Given the description of an element on the screen output the (x, y) to click on. 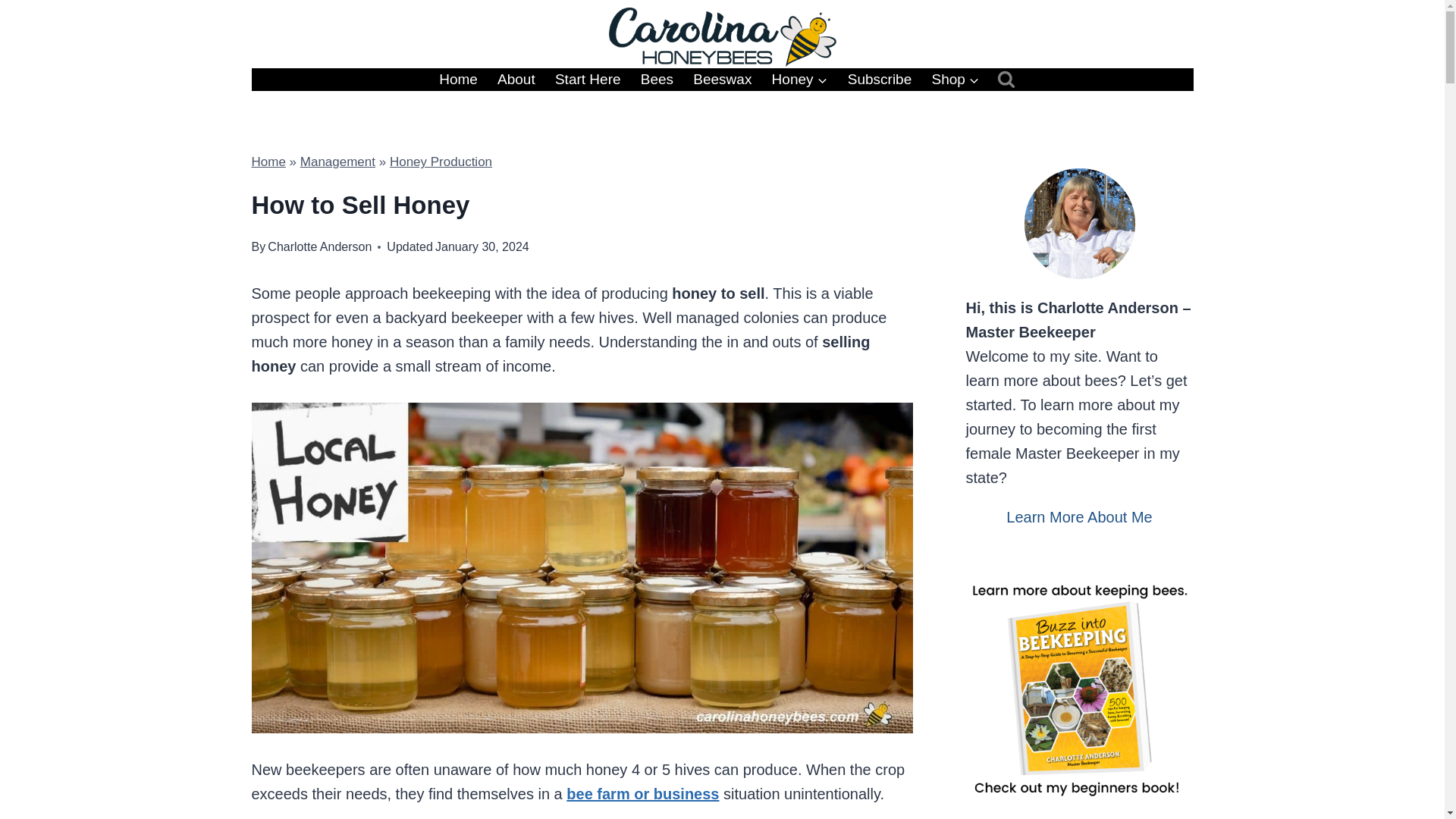
Subscribe (879, 78)
Honey (799, 78)
Shop (955, 78)
Management (337, 161)
Home (268, 161)
Honey Production (441, 161)
Charlotte Anderson (319, 246)
About (515, 78)
Beeswax (721, 78)
Start Here (587, 78)
